Given the description of an element on the screen output the (x, y) to click on. 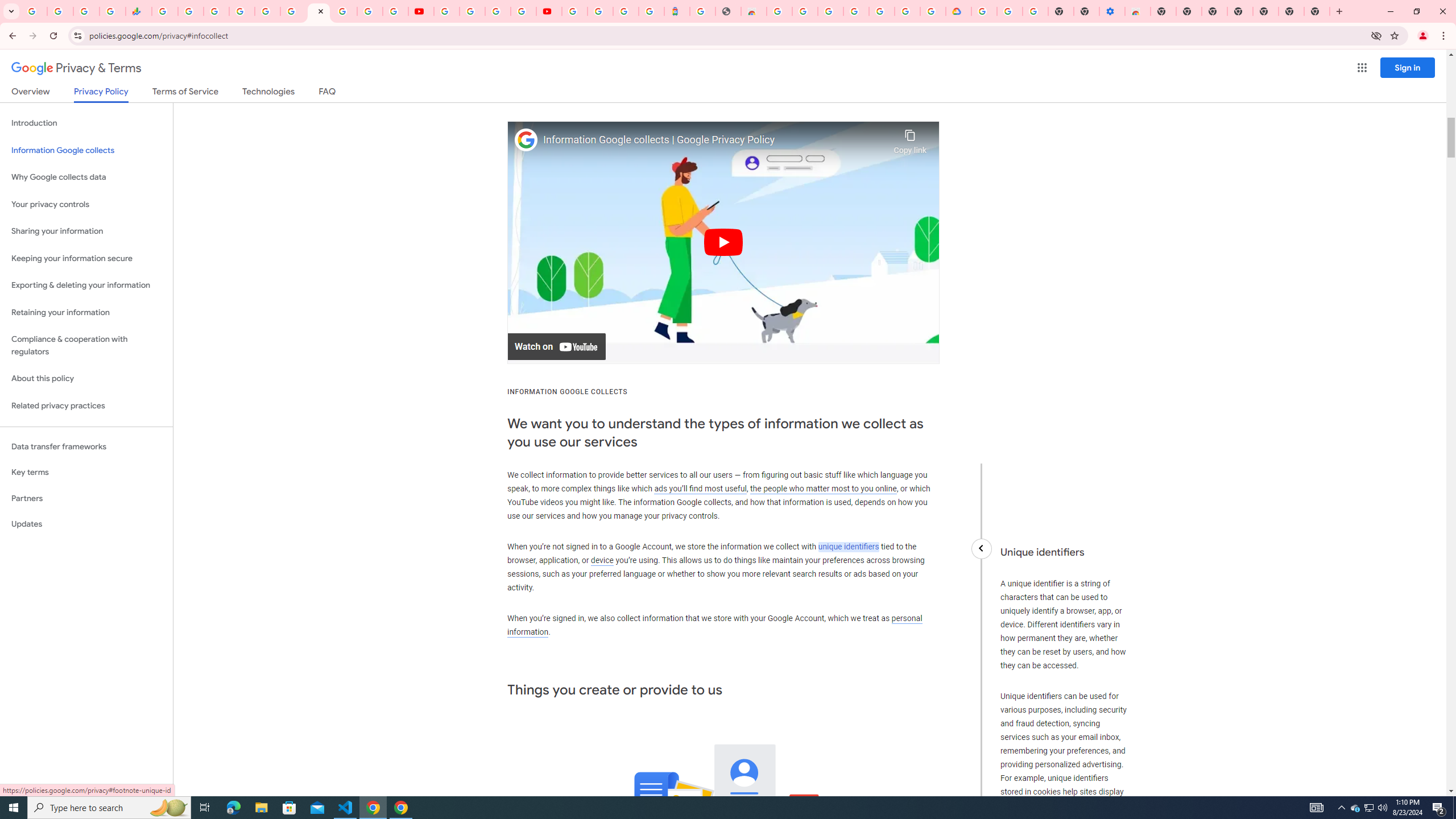
Privacy Checkup (395, 11)
